Given the description of an element on the screen output the (x, y) to click on. 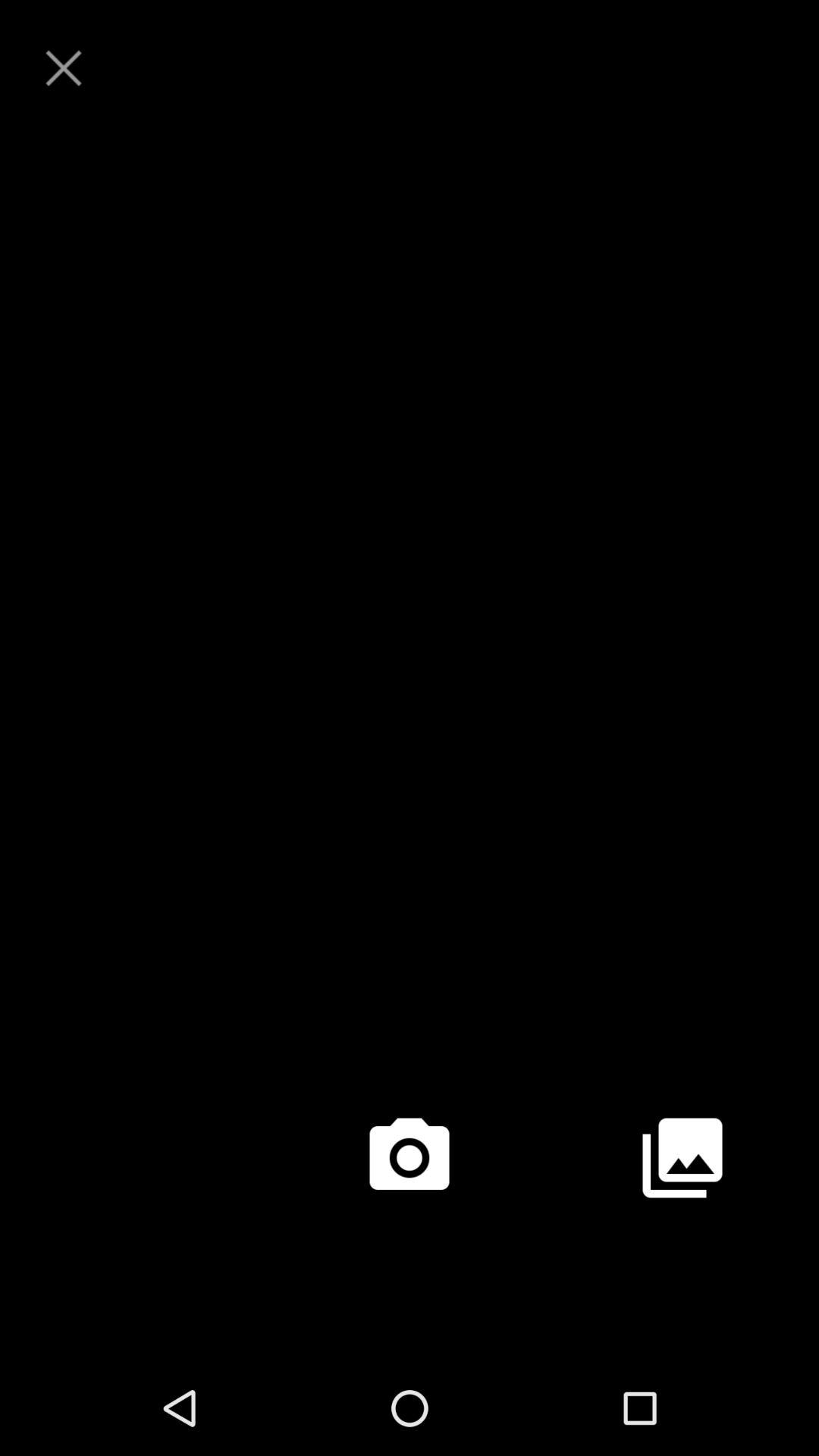
option to open the camera (409, 1157)
